Given the description of an element on the screen output the (x, y) to click on. 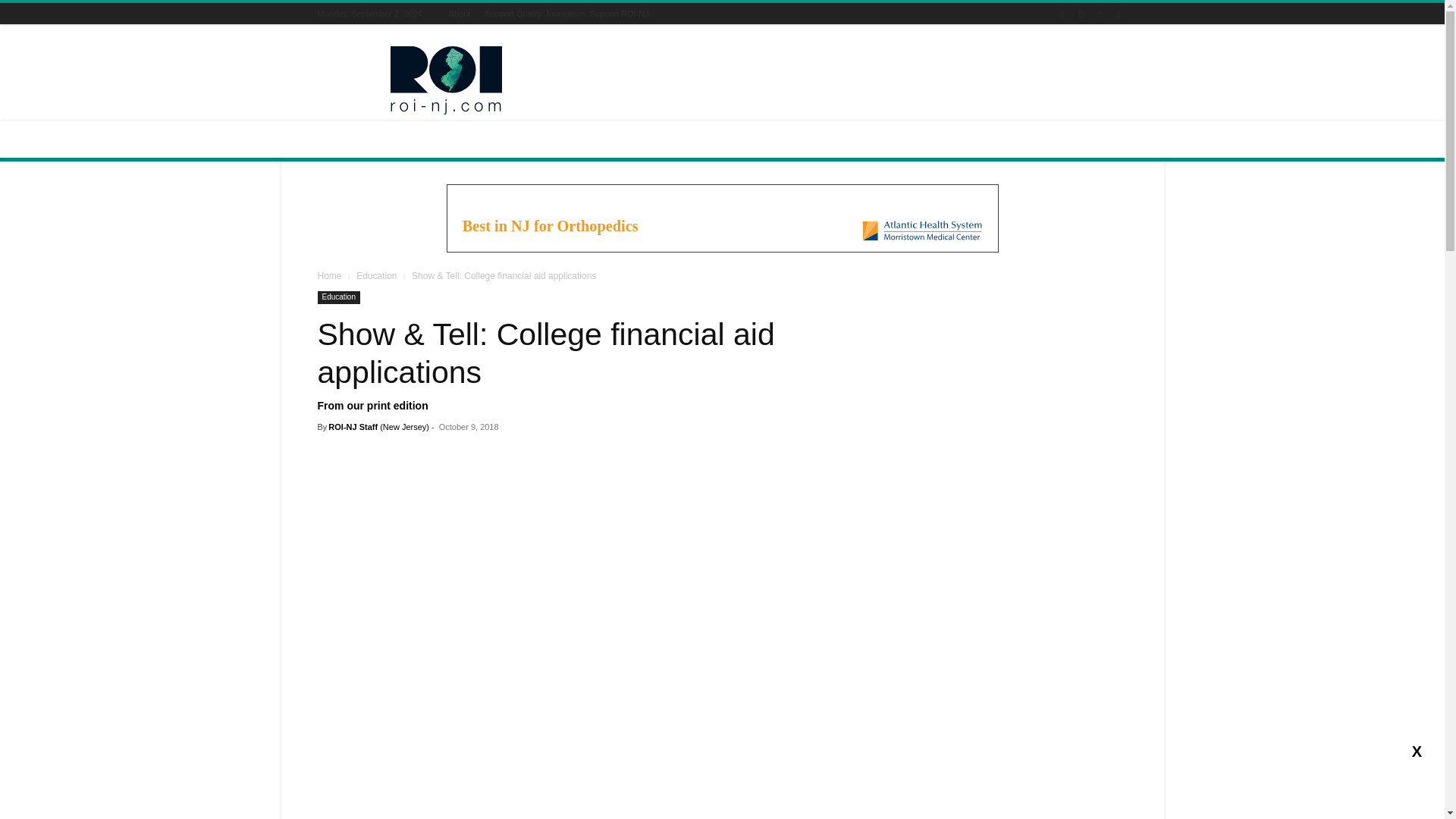
3rd party ad content (850, 79)
3rd party ad content (721, 218)
View all posts in Education (376, 276)
